Given the description of an element on the screen output the (x, y) to click on. 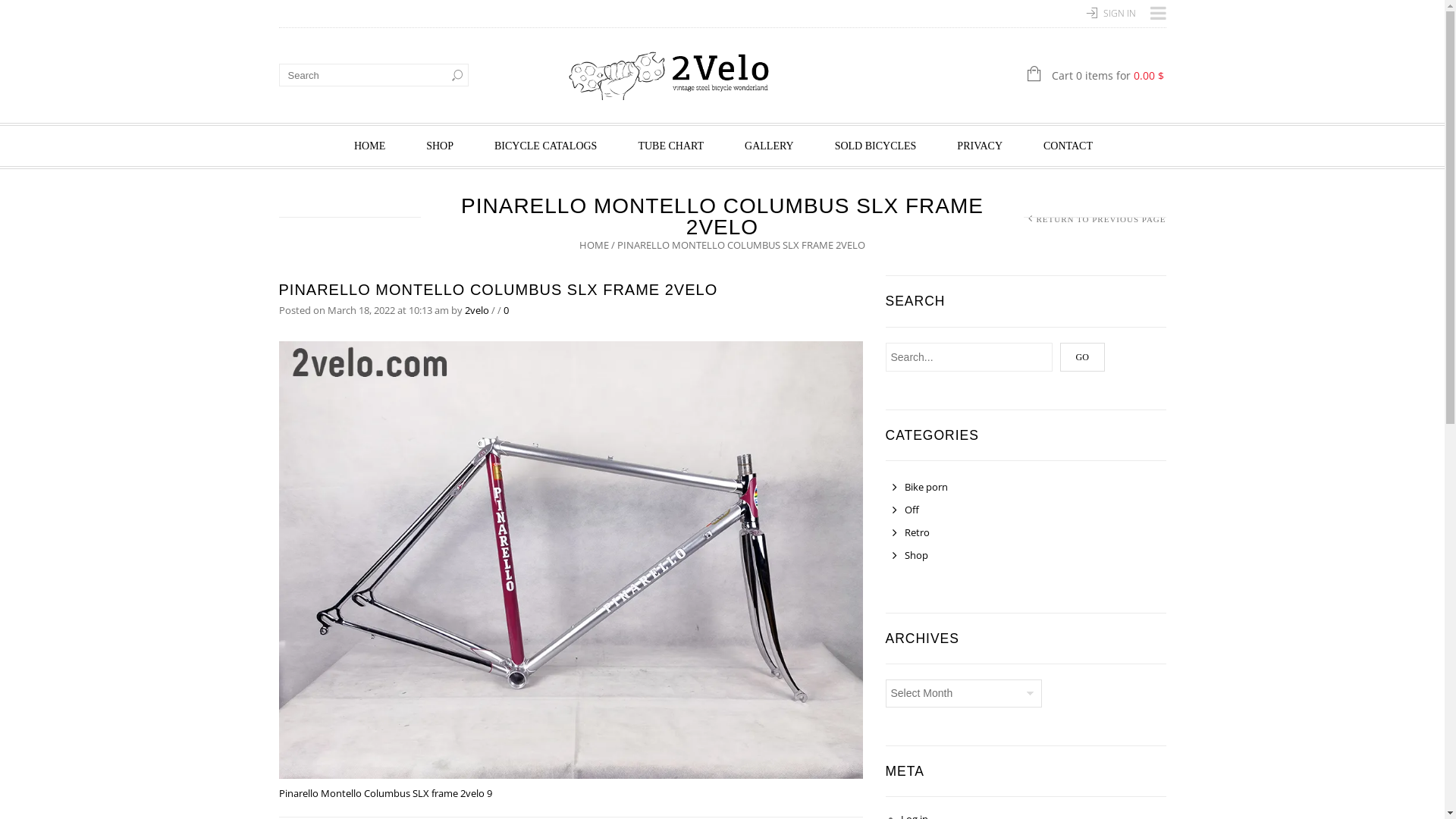
GALLERY Element type: text (768, 145)
HOME Element type: text (593, 244)
RETURN TO PREVIOUS PAGE Element type: text (1100, 219)
CONTACT Element type: text (1067, 145)
HOME Element type: text (369, 145)
Pinarello Montello Columbus SLX frame 2velo 9 Element type: text (385, 793)
BICYCLE CATALOGS Element type: text (545, 145)
Retro Element type: text (909, 532)
Go Element type: text (1082, 356)
Cart 0 items for 0.00 $ Element type: text (1041, 74)
Pinarello Montello Columbus SLX frame 2velo Element type: hover (570, 558)
Shop Element type: text (909, 555)
Off Element type: text (904, 509)
Bike porn Element type: text (919, 487)
TUBE CHART Element type: text (670, 145)
SIGN IN Element type: text (1118, 12)
SOLD BICYCLES Element type: text (875, 145)
Go Element type: text (457, 74)
PRIVACY Element type: text (979, 145)
PINARELLO MONTELLO COLUMBUS SLX FRAME 2VELO Element type: text (498, 289)
SHOP Element type: text (439, 145)
0 Element type: text (505, 309)
2velo Element type: text (476, 309)
